Given the description of an element on the screen output the (x, y) to click on. 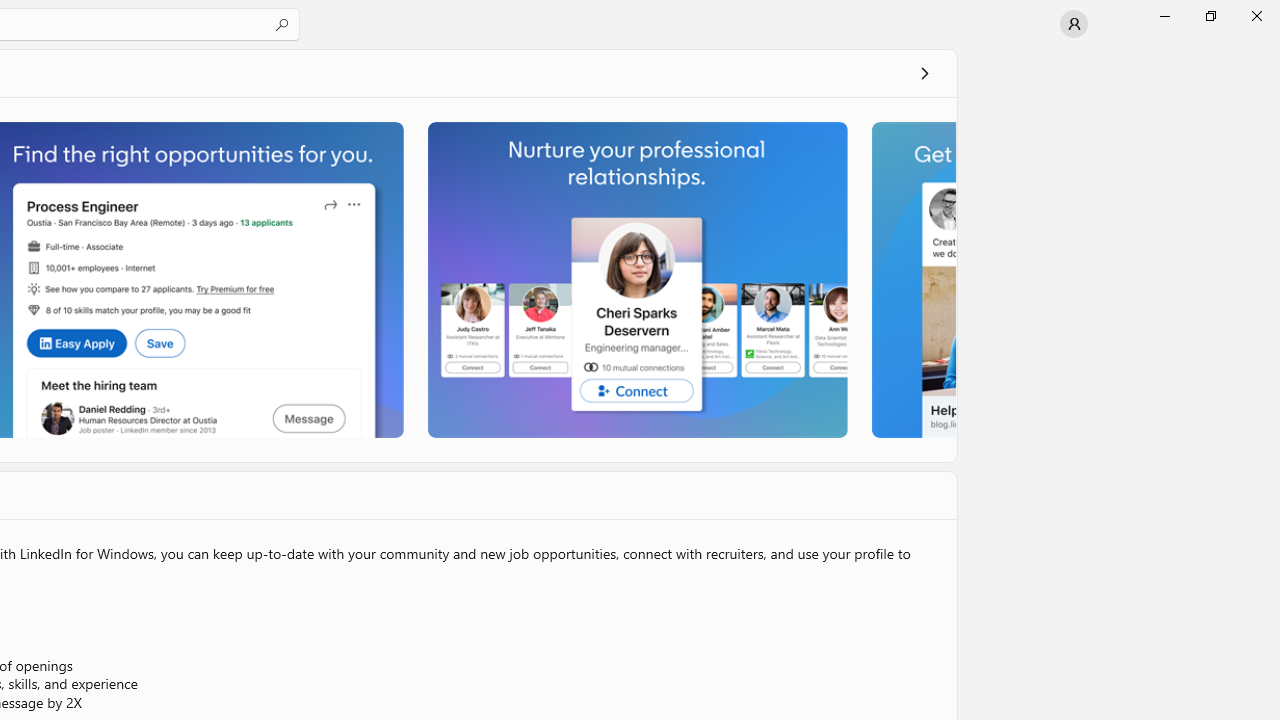
See all (924, 72)
Screenshot 4 (912, 279)
Screenshot 3 (636, 279)
